Given the description of an element on the screen output the (x, y) to click on. 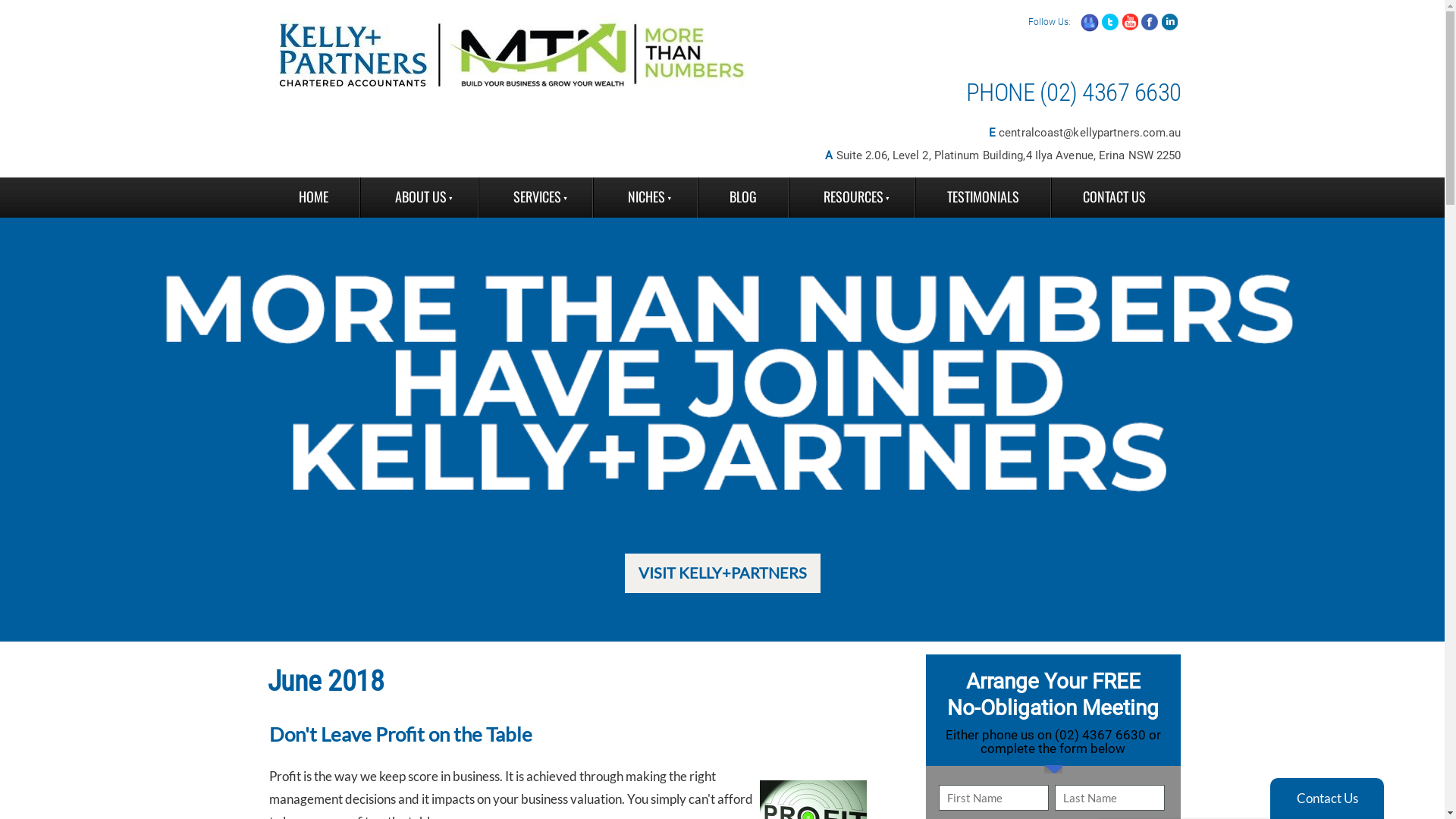
RESOURCES Element type: text (851, 197)
HOME Element type: text (312, 197)
NICHES Element type: text (644, 197)
SERVICES Element type: text (535, 197)
TESTIMONIALS Element type: text (983, 197)
CONTACT US Element type: text (1113, 197)
BLOG Element type: text (742, 197)
ABOUT US Element type: text (418, 197)
VISIT KELLY+PARTNERS Element type: text (722, 573)
Don't Leave Profit on the Table Element type: text (399, 733)
